Given the description of an element on the screen output the (x, y) to click on. 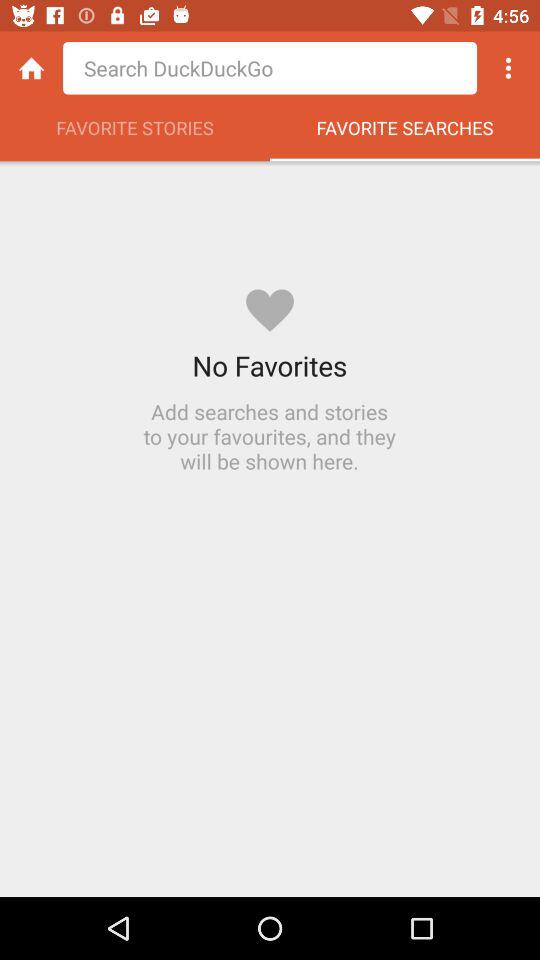
turn on the icon above the favorite searches app (508, 68)
